Given the description of an element on the screen output the (x, y) to click on. 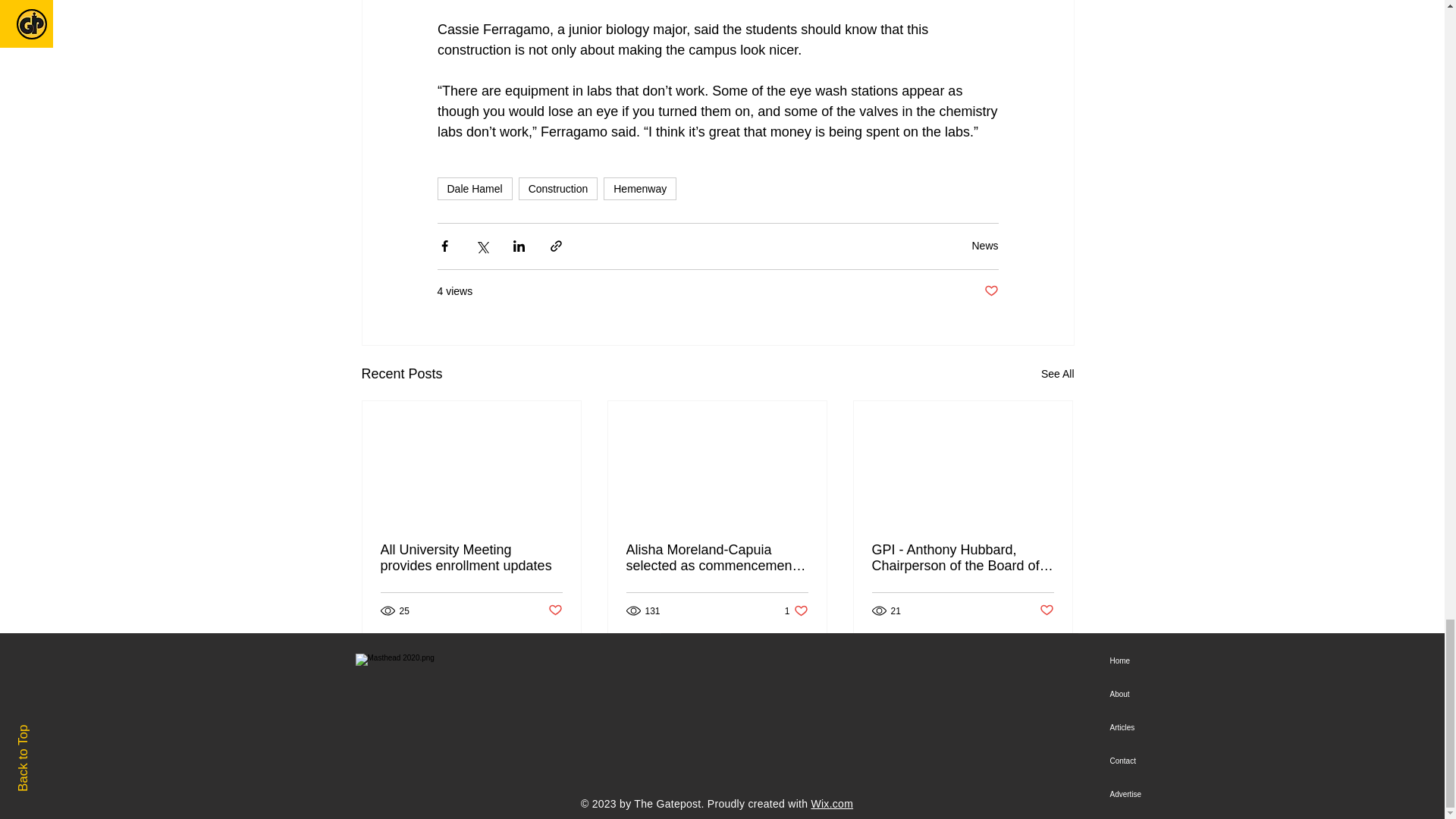
Alisha Moreland-Capuia selected as commencement speaker (717, 558)
GPI - Anthony Hubbard, Chairperson of the Board of Trustees (963, 558)
Post not marked as liked (796, 610)
News (991, 291)
Post not marked as liked (984, 245)
Hemenway (1045, 610)
See All (640, 188)
All University Meeting provides enrollment updates (1057, 373)
Dale Hamel (471, 558)
Construction (474, 188)
Post not marked as liked (558, 188)
